Given the description of an element on the screen output the (x, y) to click on. 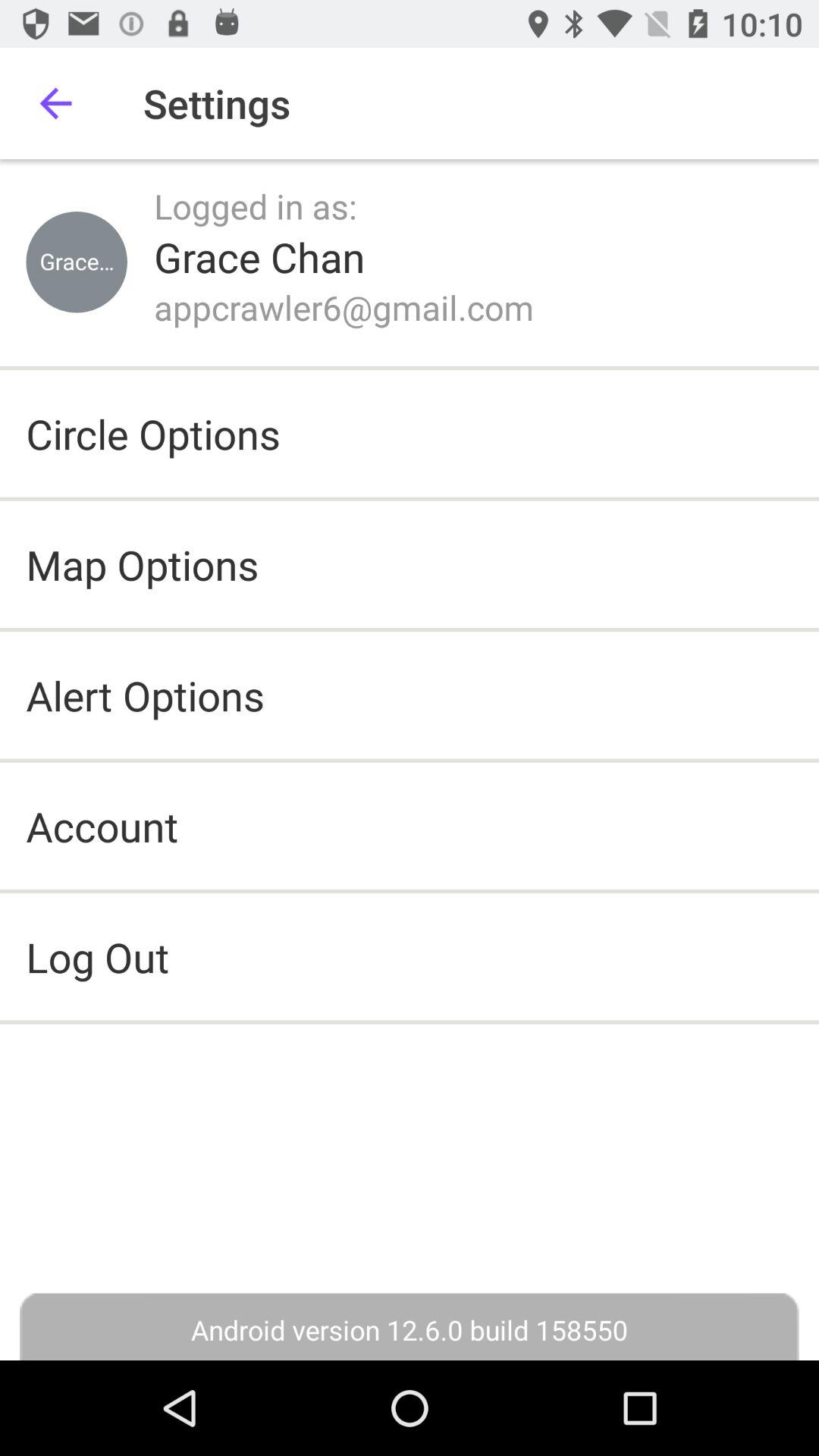
turn off icon above account item (145, 694)
